Given the description of an element on the screen output the (x, y) to click on. 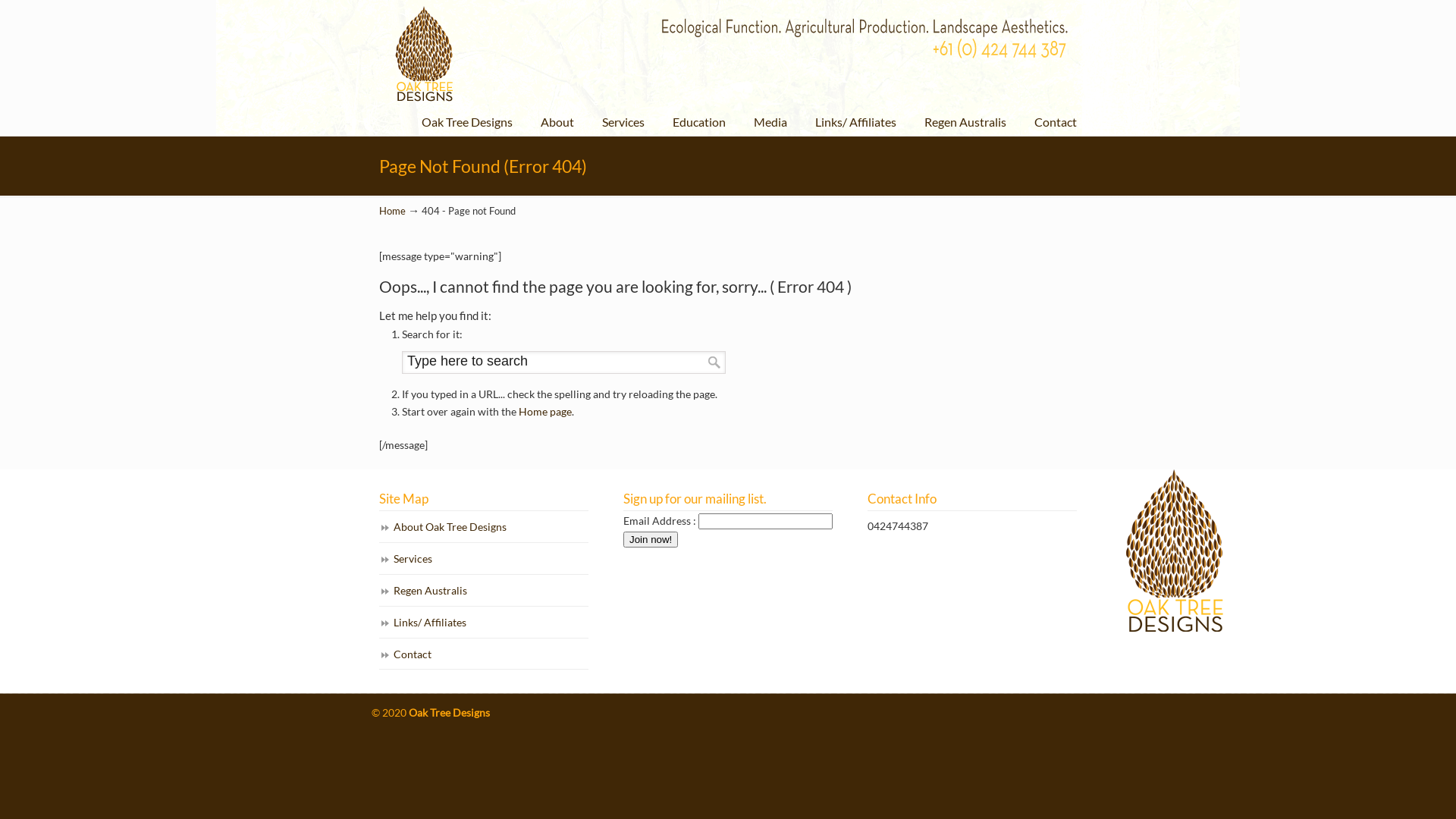
Services Element type: text (483, 559)
Links/ Affiliates Element type: text (855, 122)
Contact Element type: text (483, 655)
Education Element type: text (698, 122)
Home Element type: text (392, 210)
Search Element type: text (714, 361)
Oak Tree Designs Element type: text (727, 53)
Regen Australis Element type: text (965, 122)
Links/ Affiliates Element type: text (483, 623)
Oak Tree Designs Element type: text (466, 122)
About Oak Tree Designs Element type: text (483, 527)
Join now! Element type: text (650, 539)
Contact Element type: text (1055, 122)
Services Element type: text (622, 122)
Regen Australis Element type: text (483, 591)
About Element type: text (557, 122)
Home page Element type: text (544, 410)
Media Element type: text (770, 122)
